Given the description of an element on the screen output the (x, y) to click on. 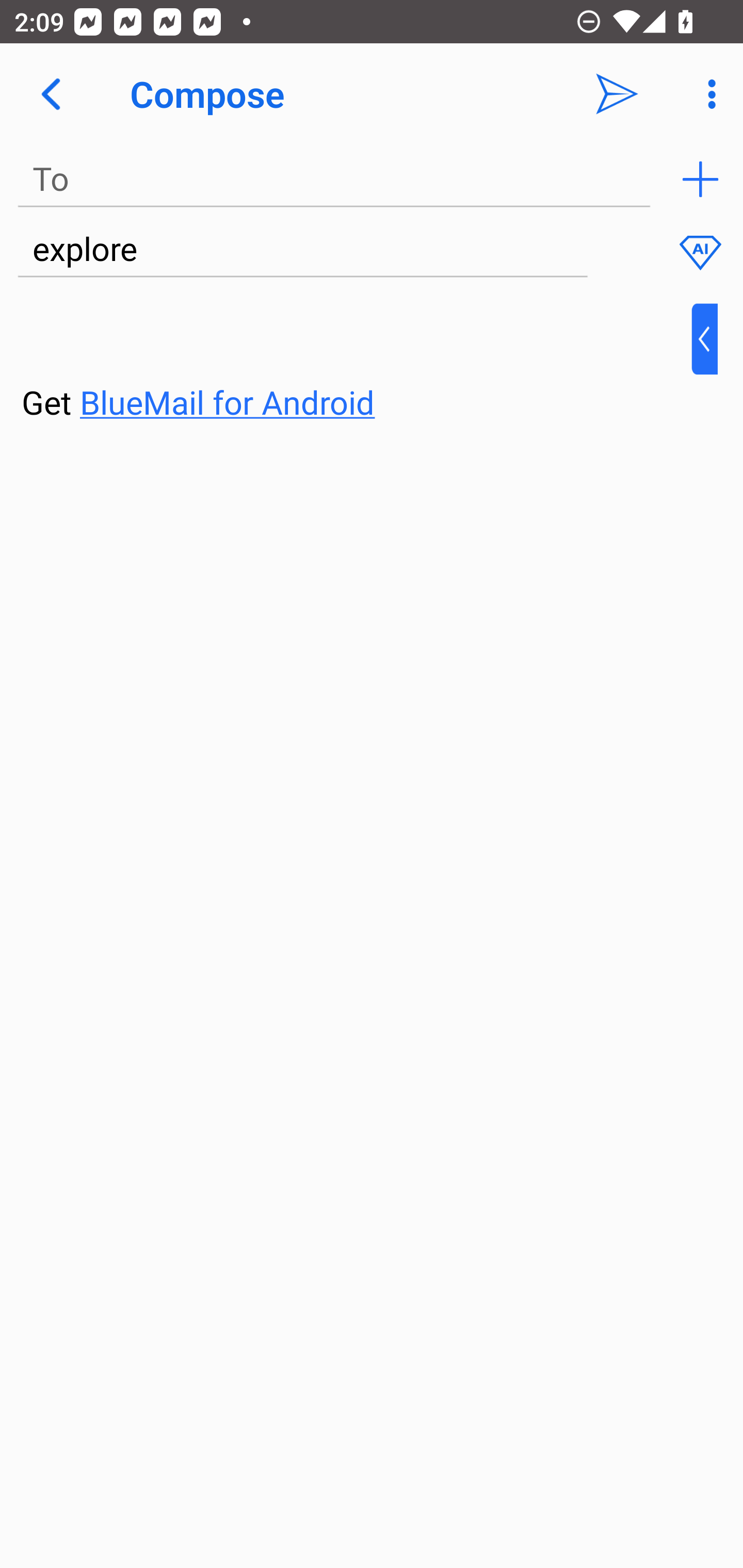
Navigate up (50, 93)
Send (616, 93)
More Options (706, 93)
To (334, 179)
Add recipient (To) (699, 179)
explore (302, 249)


⁣Get BlueMail for Android ​ (355, 363)
